Given the description of an element on the screen output the (x, y) to click on. 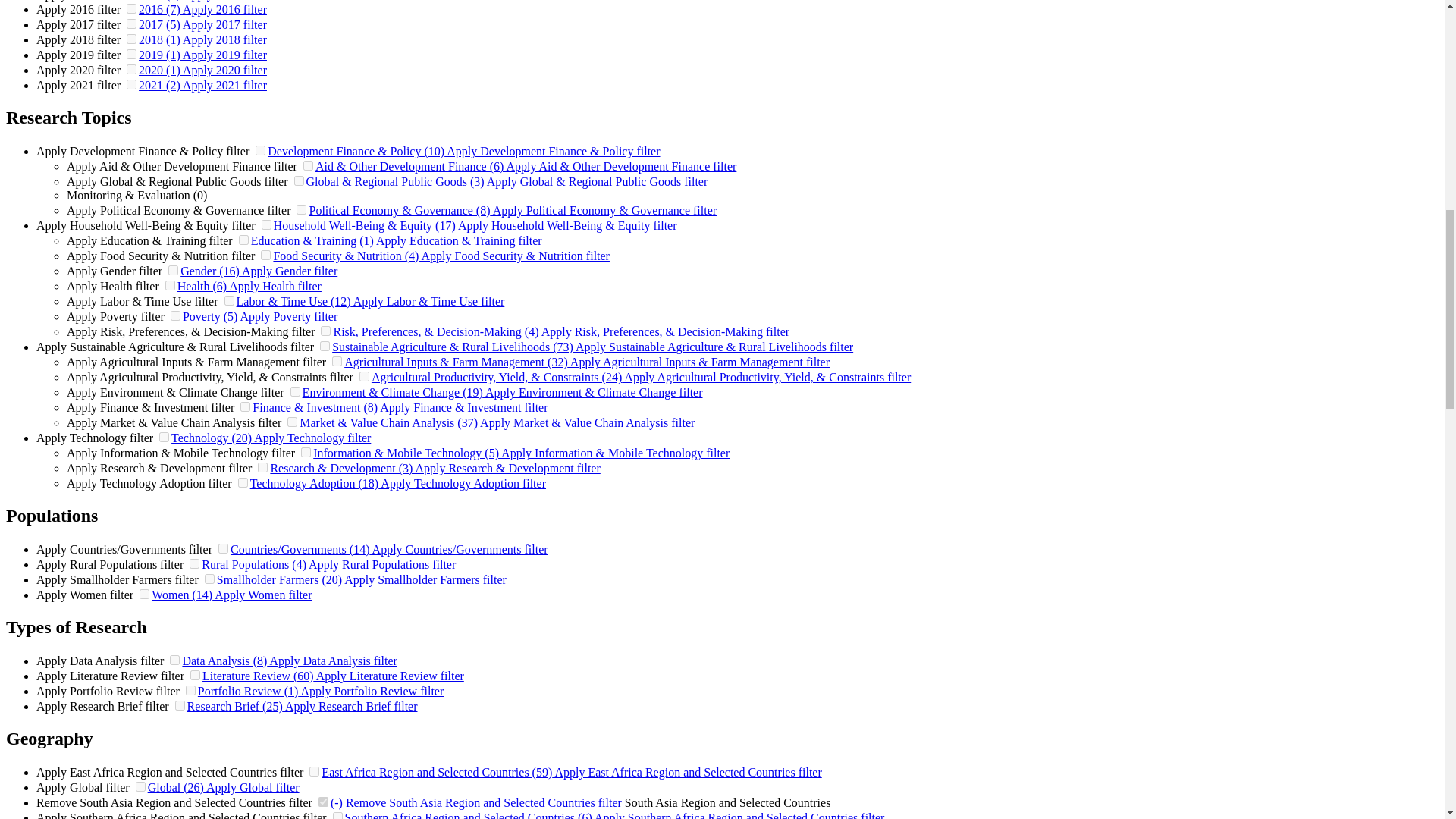
on (266, 225)
on (131, 53)
on (299, 180)
on (131, 84)
on (131, 8)
on (131, 69)
on (260, 150)
on (307, 165)
on (301, 209)
on (131, 23)
on (131, 39)
